Given the description of an element on the screen output the (x, y) to click on. 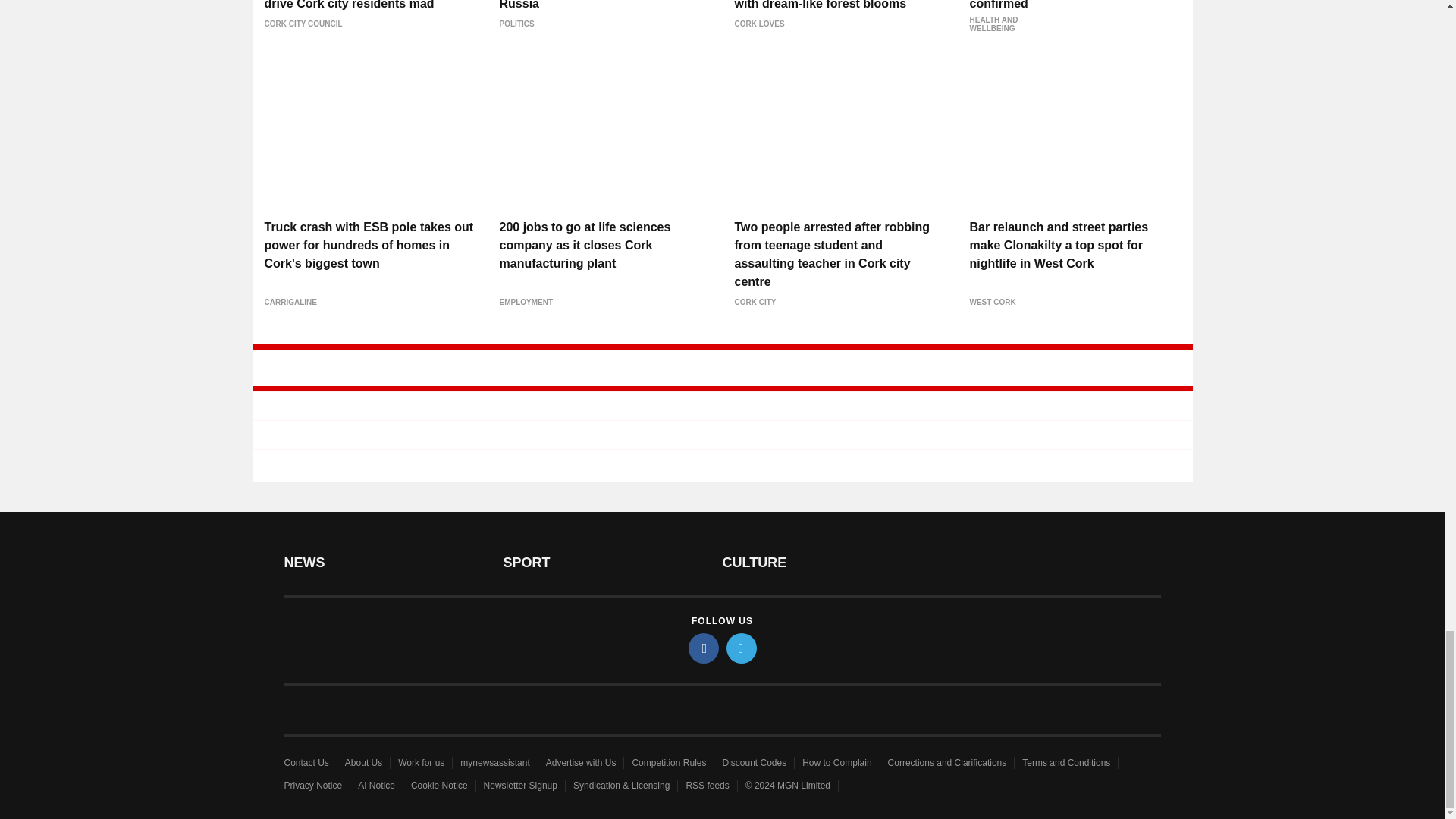
twitter (741, 648)
facebook (703, 648)
